Given the description of an element on the screen output the (x, y) to click on. 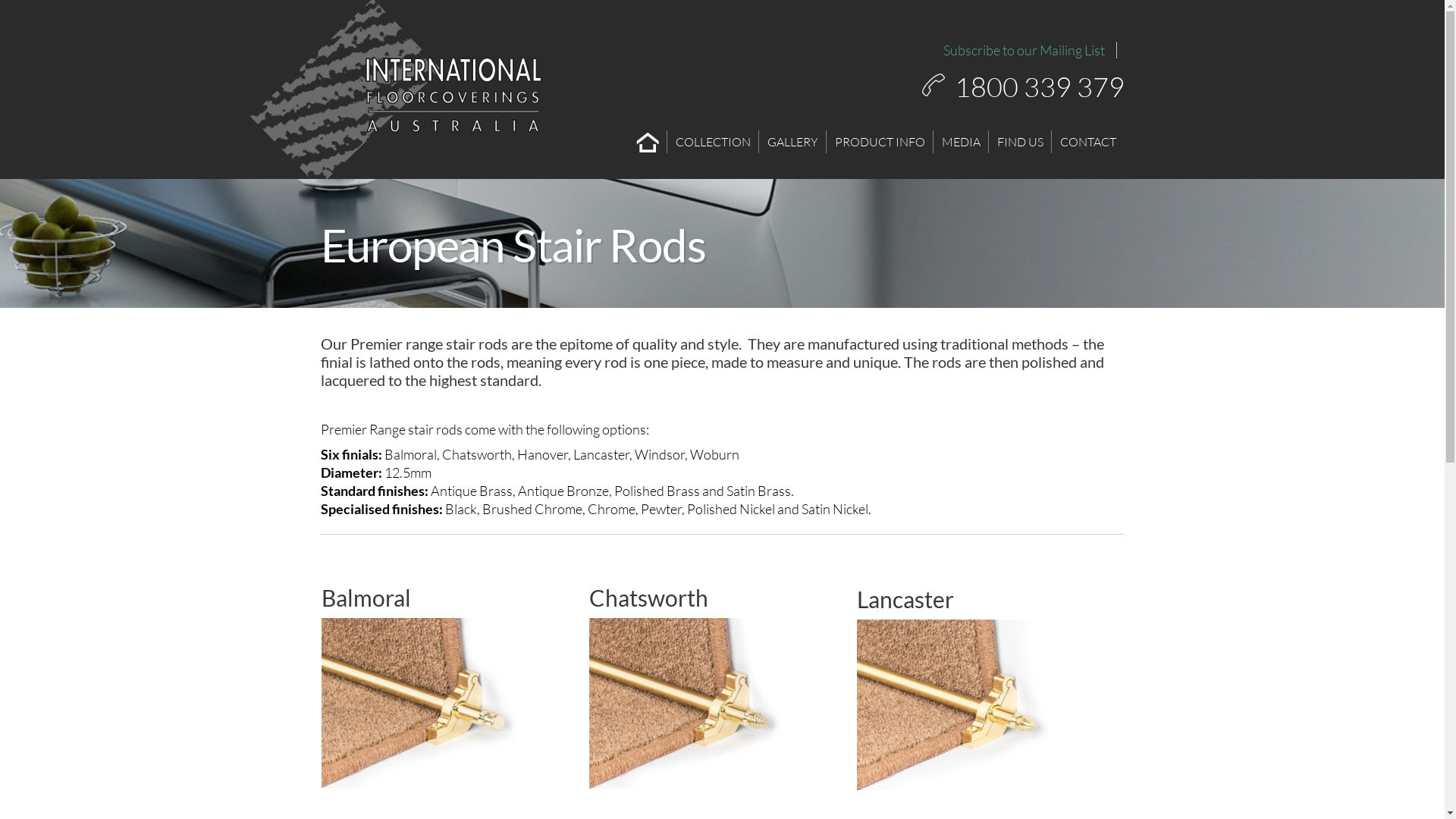
COLLECTION Element type: text (713, 141)
Subscribe to our Mailing List Element type: text (1023, 49)
MEDIA Element type: text (960, 141)
PRODUCT INFO Element type: text (879, 141)
GALLERY Element type: text (791, 141)
CONTACT Element type: text (1087, 141)
FIND US Element type: text (1019, 141)
